Given the description of an element on the screen output the (x, y) to click on. 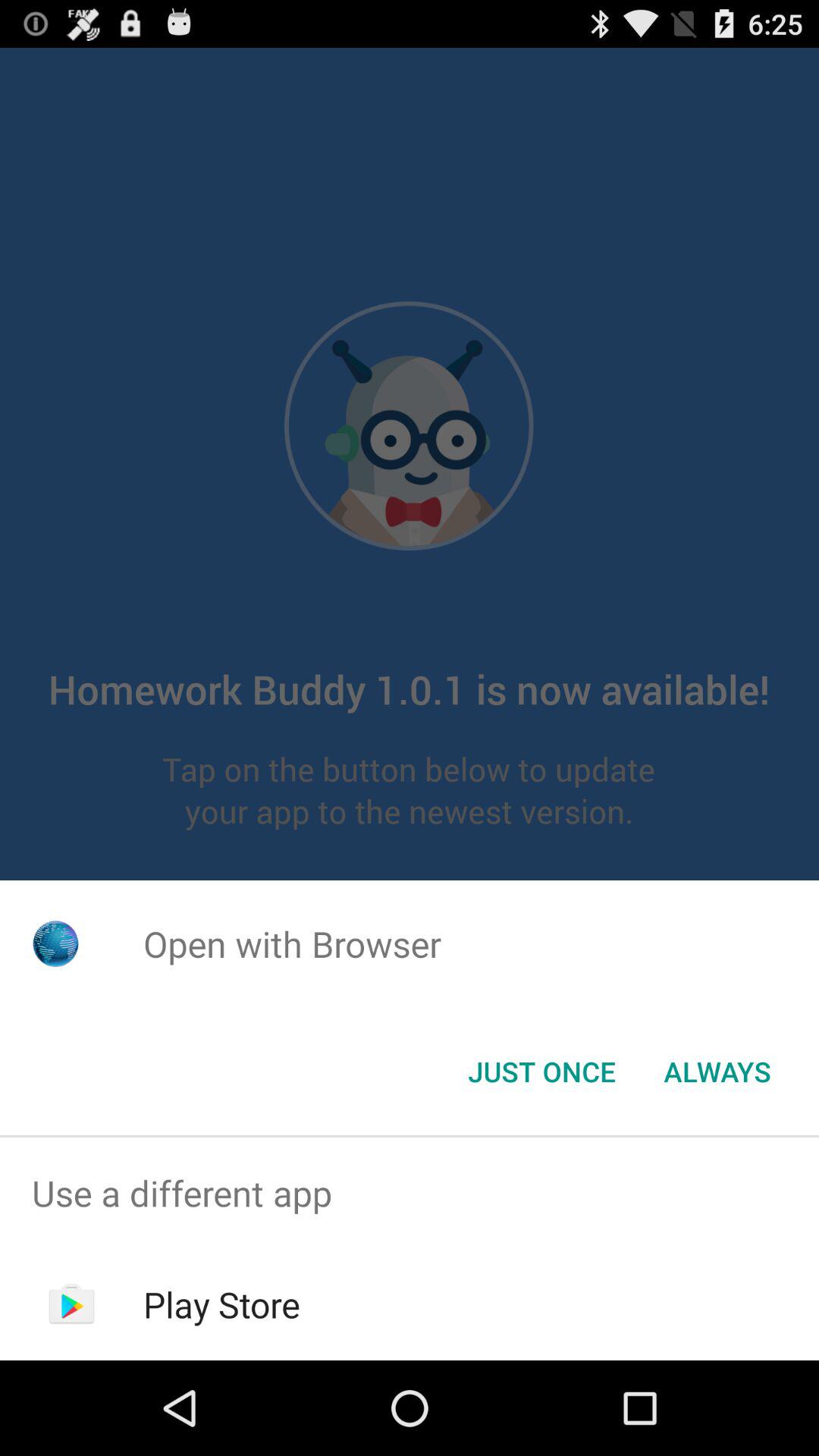
select icon above play store app (409, 1192)
